Given the description of an element on the screen output the (x, y) to click on. 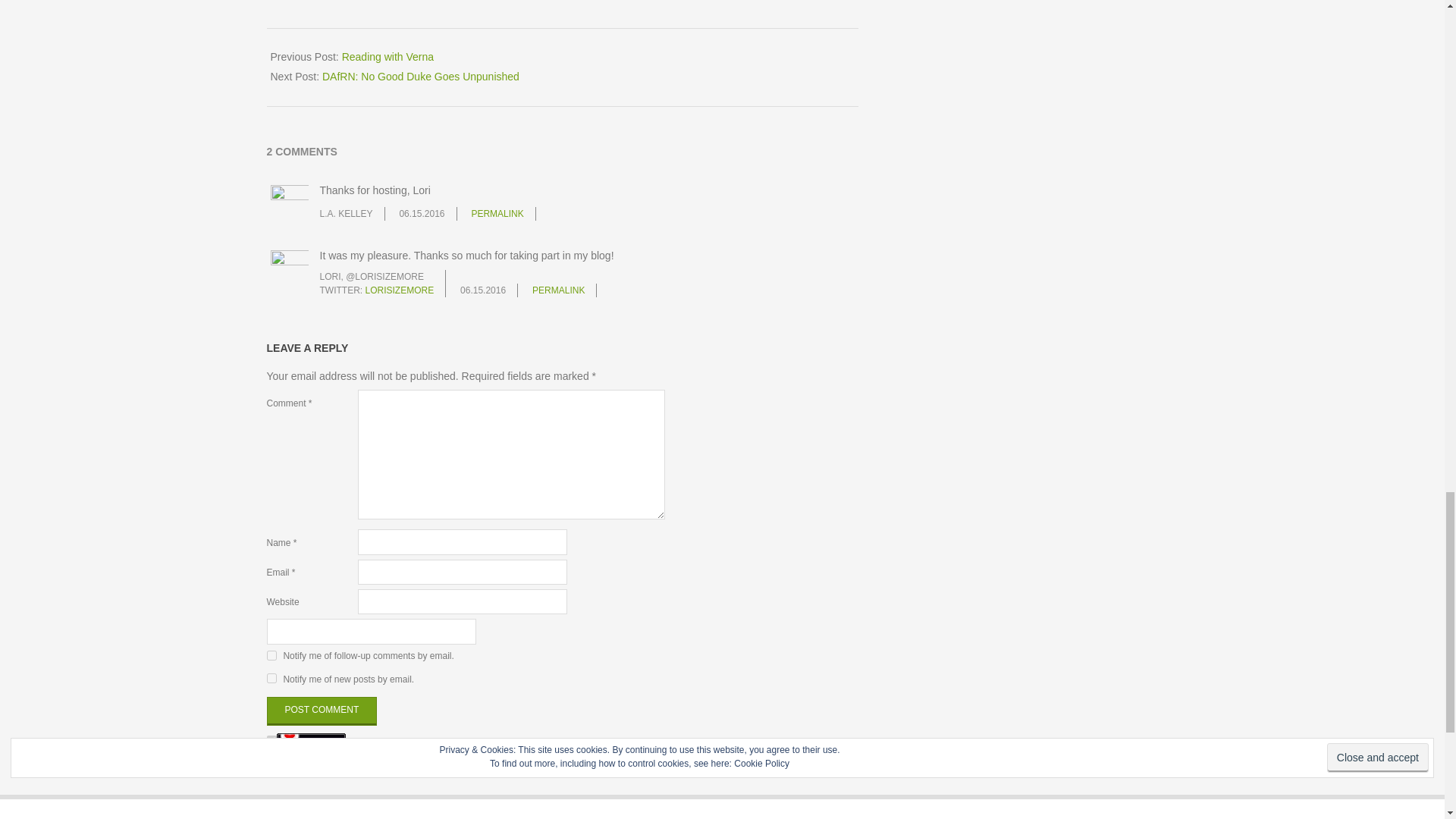
on (271, 740)
subscribe (271, 678)
Post Comment (321, 710)
subscribe (271, 655)
